Given the description of an element on the screen output the (x, y) to click on. 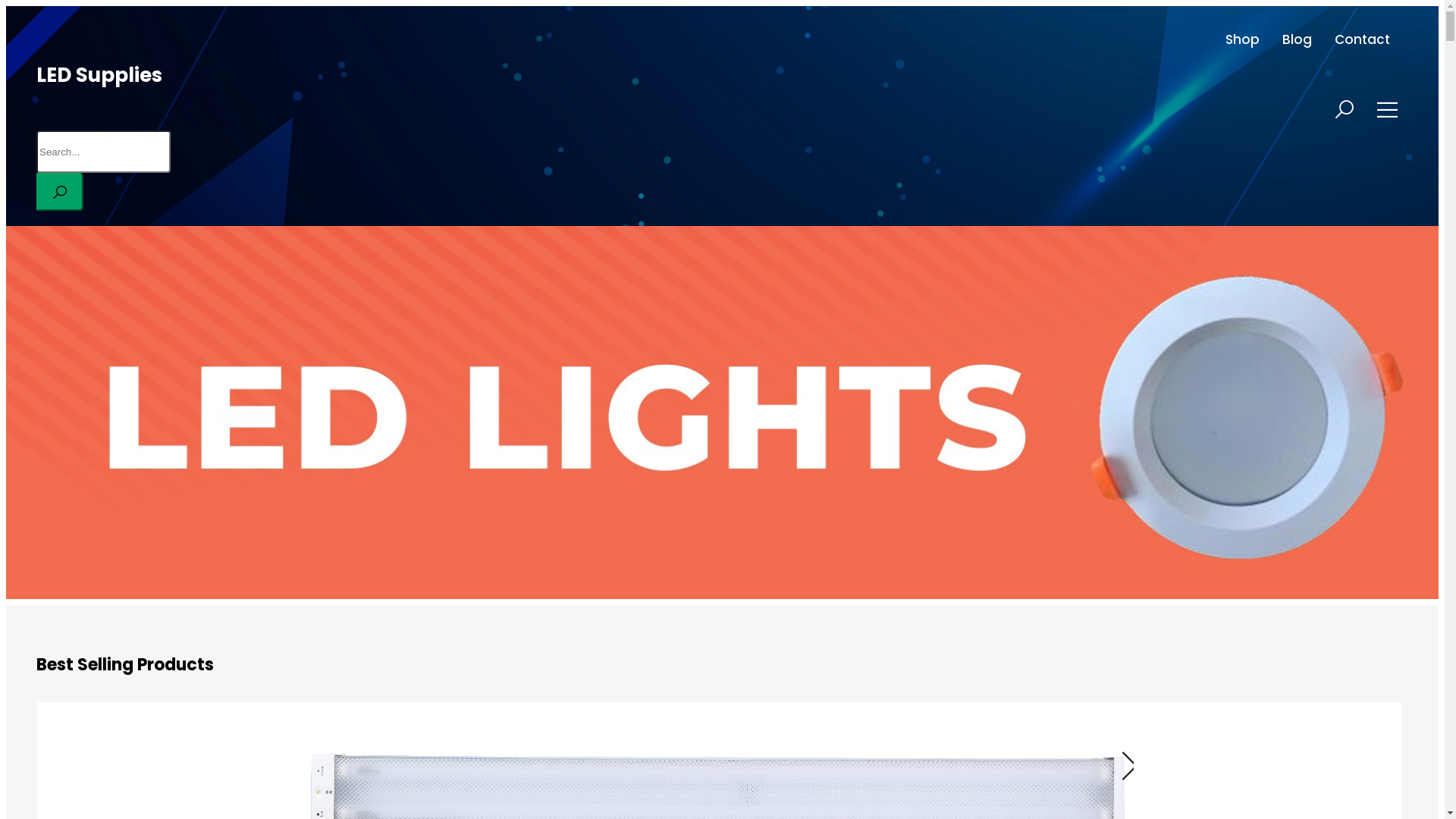
LED Supplies Element type: text (99, 74)
Contact Element type: text (1362, 39)
Blog Element type: text (1296, 39)
Shop Element type: text (1242, 39)
